Given the description of an element on the screen output the (x, y) to click on. 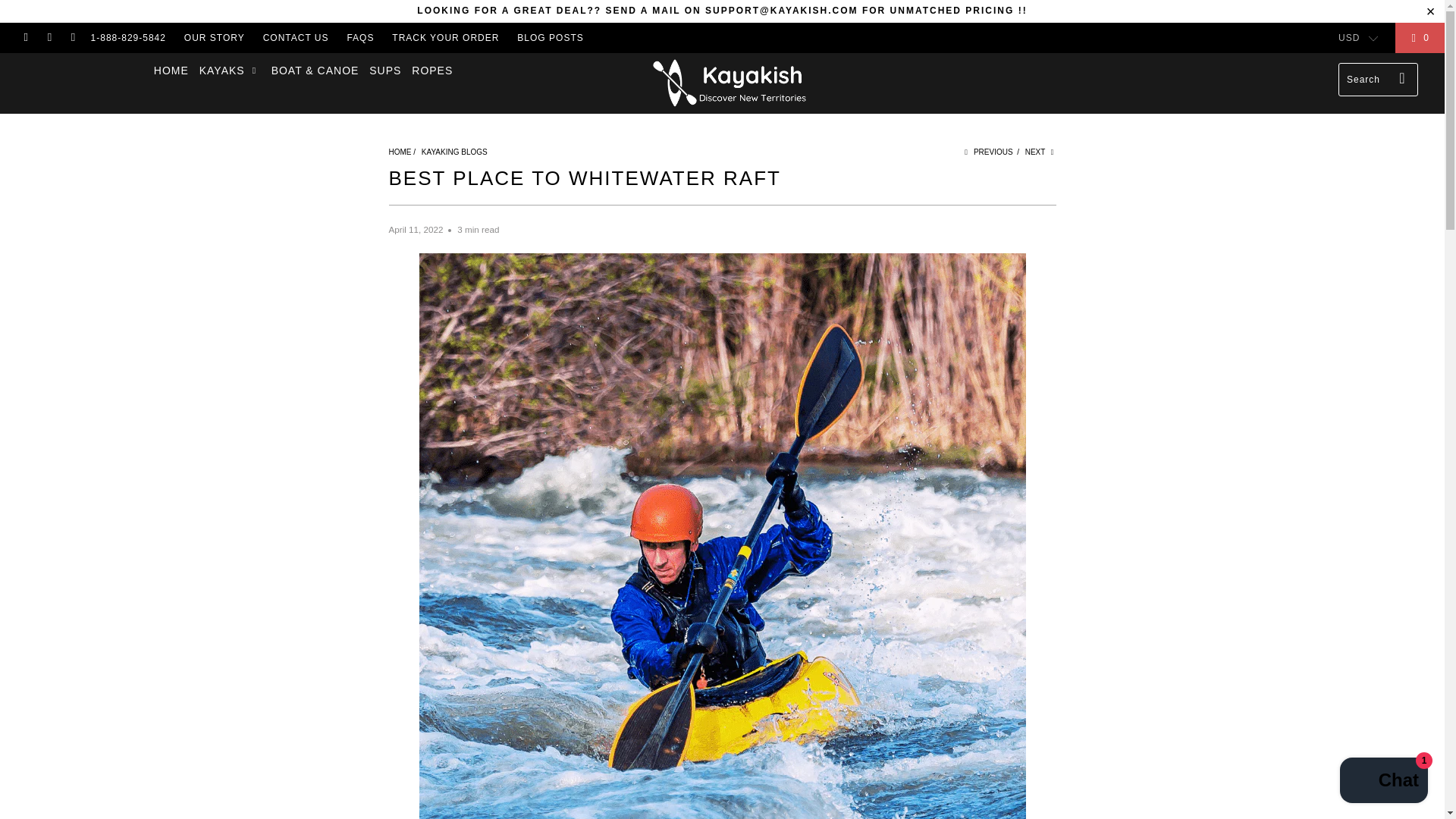
Kayakish on Facebook (25, 37)
Kayakish (399, 152)
OUR STORY (214, 37)
Kayakish (729, 83)
Kayakish on LinkedIn (48, 37)
1-888-829-5842 (127, 37)
Email Kayakish (71, 37)
Kayaking Blogs (454, 152)
